Given the description of an element on the screen output the (x, y) to click on. 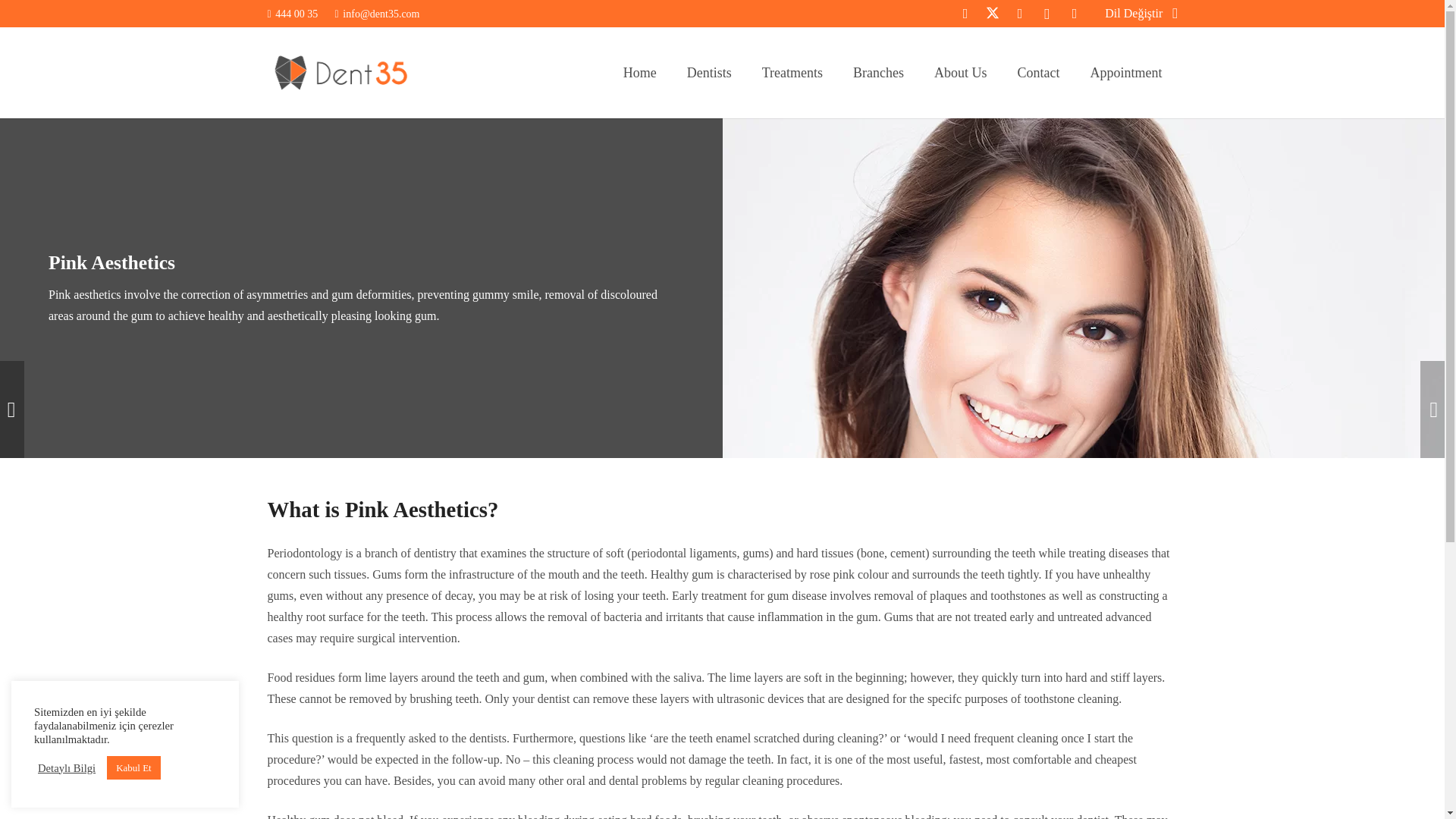
Home (639, 72)
Pediatric Dentistry (12, 409)
Twitter (992, 13)
Treatments (792, 72)
Dentists (708, 72)
Instagram (1047, 13)
Contact (1039, 72)
Facebook (965, 13)
YouTube (1019, 13)
444 00 35 (291, 12)
Appointment (1126, 72)
WhatsApp (1074, 13)
About Us (960, 72)
Branches (878, 72)
